Given the description of an element on the screen output the (x, y) to click on. 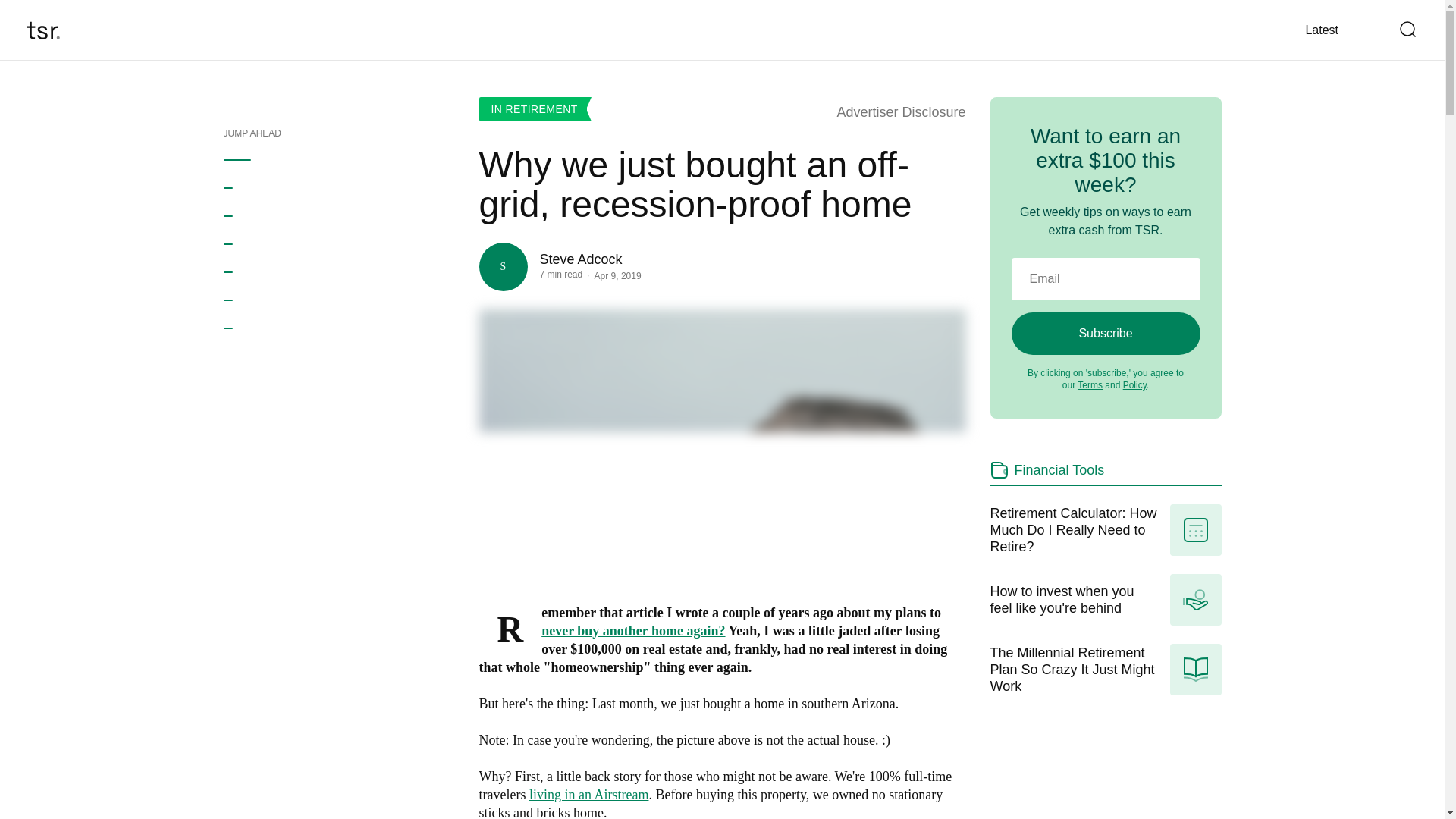
The Millennial Retirement Plan So Crazy It Just Might Work (1105, 669)
Advertiser Disclosure (900, 111)
Subscribe (1105, 333)
Steve Adcock (591, 259)
IN RETIREMENT (535, 109)
Retirement Calculator: How Much Do I Really Need to Retire? (1105, 530)
Terms (1089, 385)
How to invest when you feel like you're behind (1105, 599)
living in an Airstream (588, 794)
Policy (1134, 385)
